Given the description of an element on the screen output the (x, y) to click on. 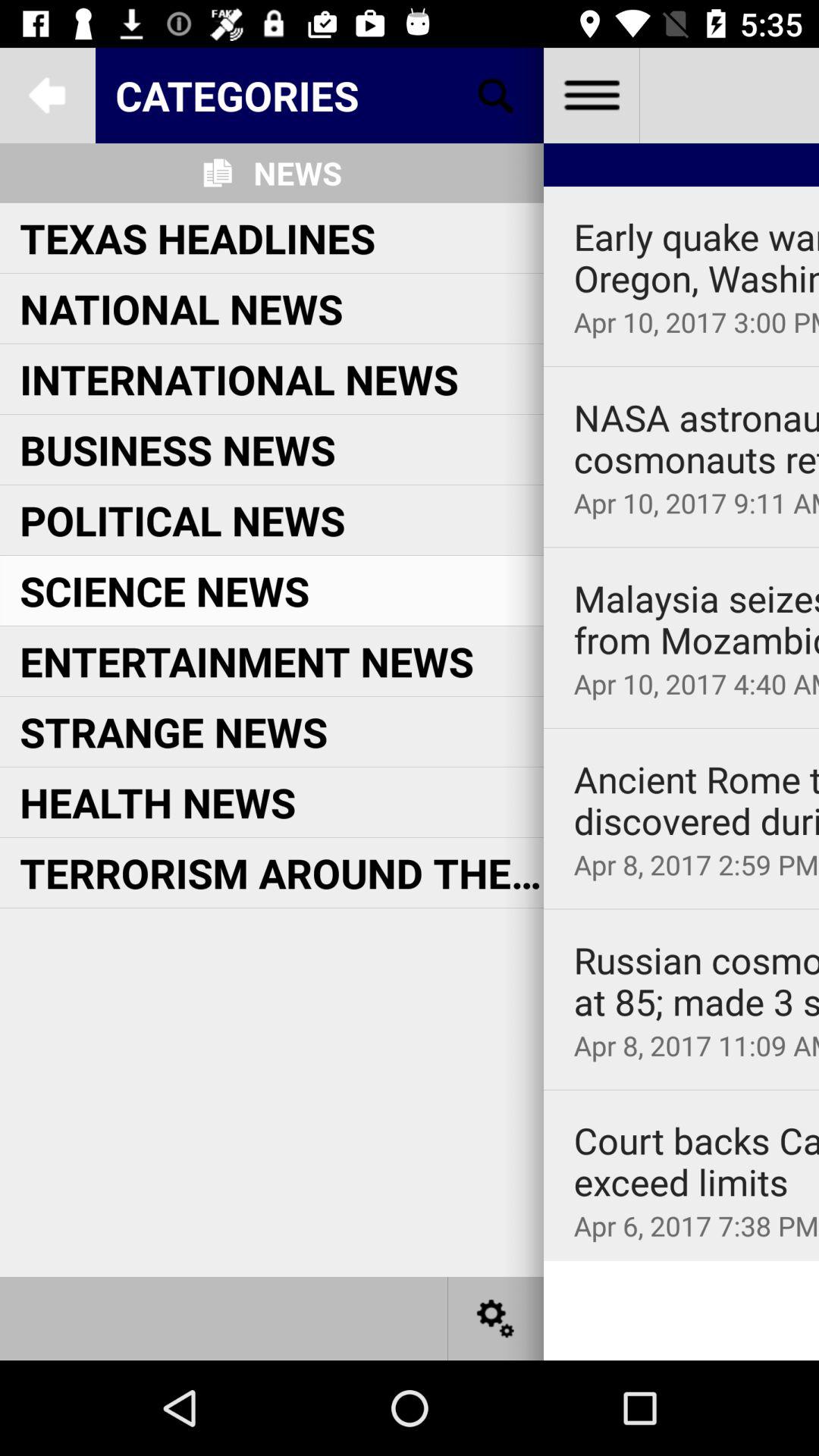
tap icon next to the news (495, 95)
